Given the description of an element on the screen output the (x, y) to click on. 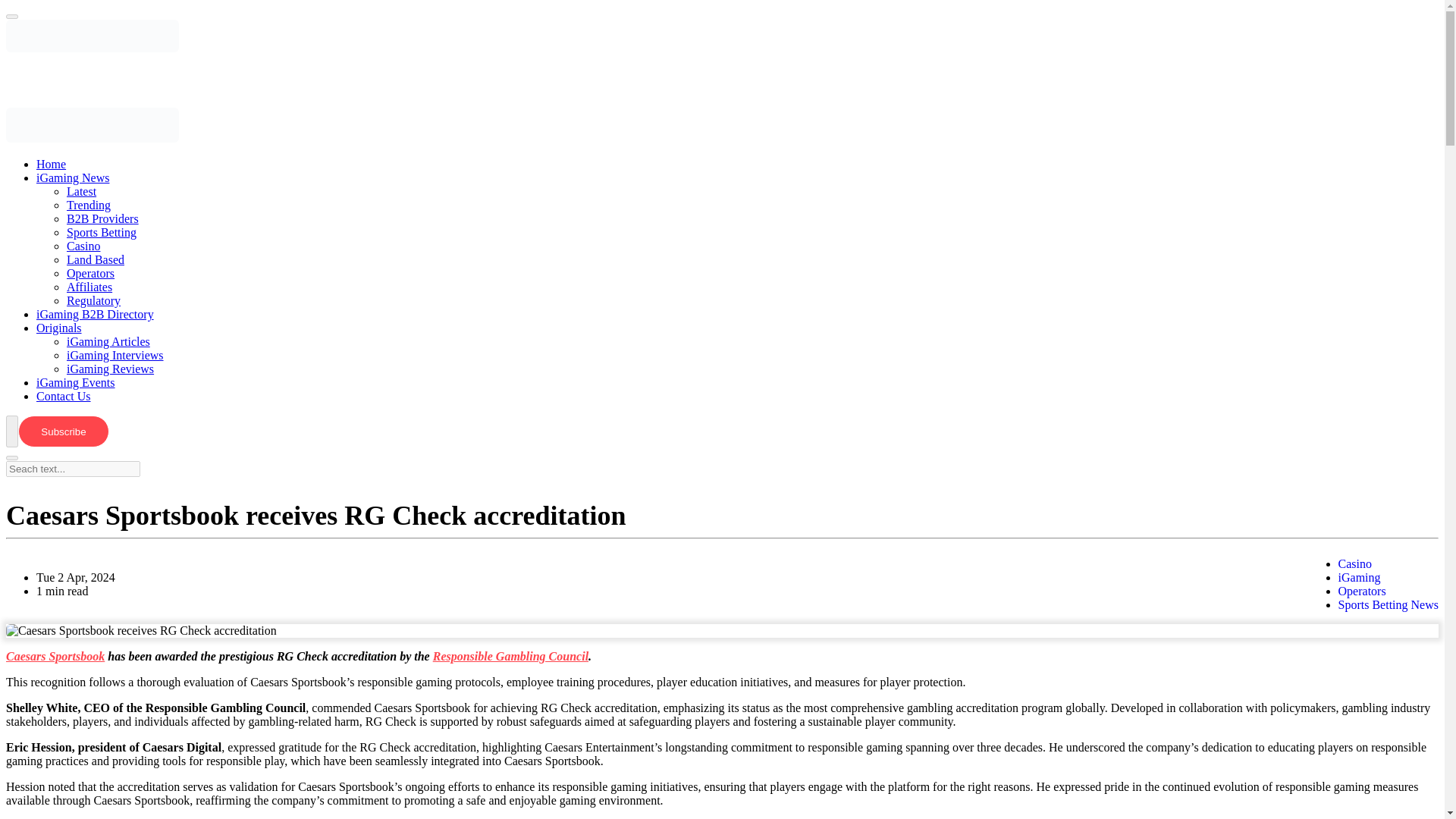
Home (66, 163)
B2B Providers (117, 218)
TheGamblest Logo (92, 47)
Sports Betting (116, 232)
iGaming (1359, 576)
Affiliates (104, 286)
Latest (96, 191)
IGaming B2B Directory (110, 314)
Latest Gambling News (96, 191)
Top News (103, 204)
Land Based (110, 259)
Sports Betting (116, 232)
Land Based (110, 259)
iGaming Events (90, 382)
iGaming News (87, 177)
